Given the description of an element on the screen output the (x, y) to click on. 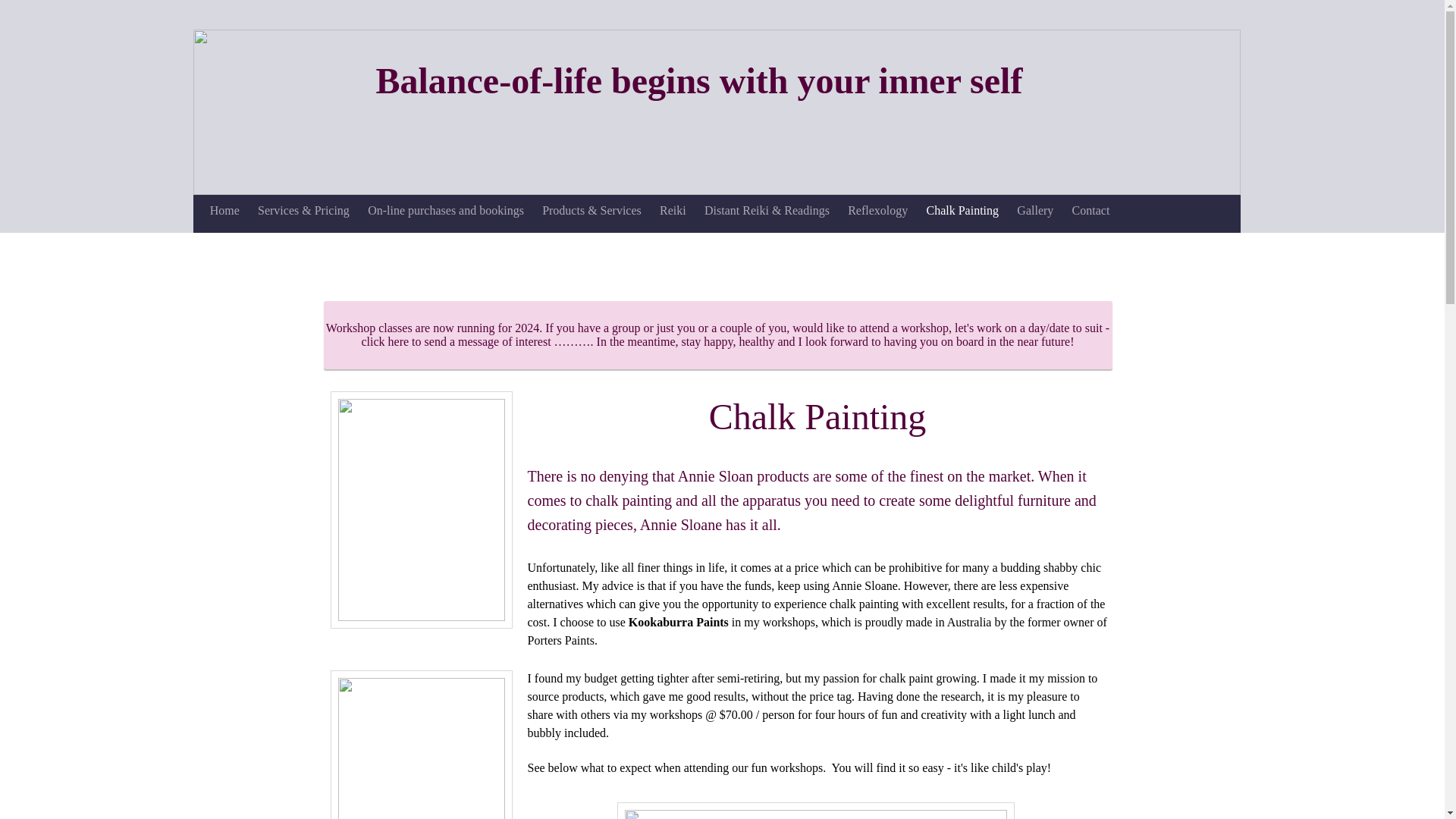
On-line purchases and bookings (445, 210)
Home (223, 210)
Contact (1090, 210)
Reflexology (877, 210)
Reiki (672, 210)
Gallery (1034, 210)
Chalk Painting (962, 210)
